Given the description of an element on the screen output the (x, y) to click on. 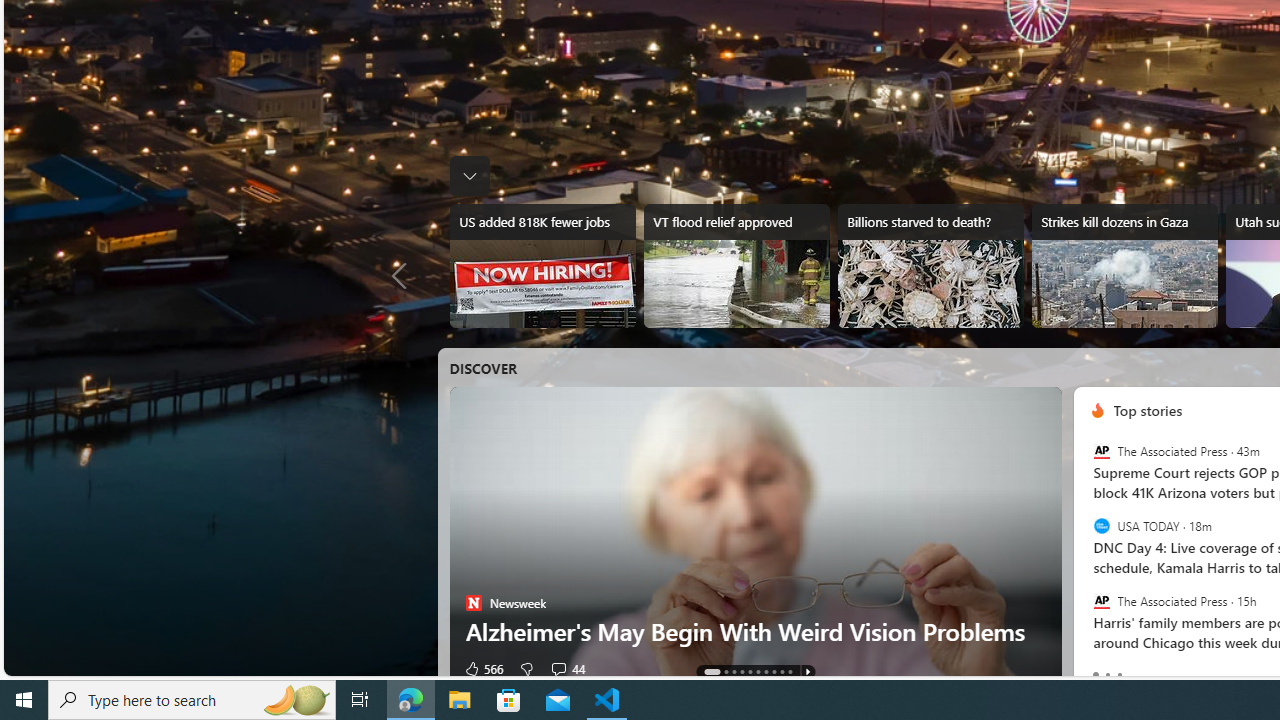
AutomationID: tab-0 (711, 671)
AutomationID: tab-8 (781, 671)
566 Like (482, 668)
AutomationID: tab-1 (725, 671)
The taskbar was expanded. Press to collapse taskbar (469, 175)
The Associated Press (1101, 600)
Top stories (1147, 410)
View comments 44 Comment (558, 668)
Previous news (404, 275)
AutomationID: tab-5 (757, 671)
